Given the description of an element on the screen output the (x, y) to click on. 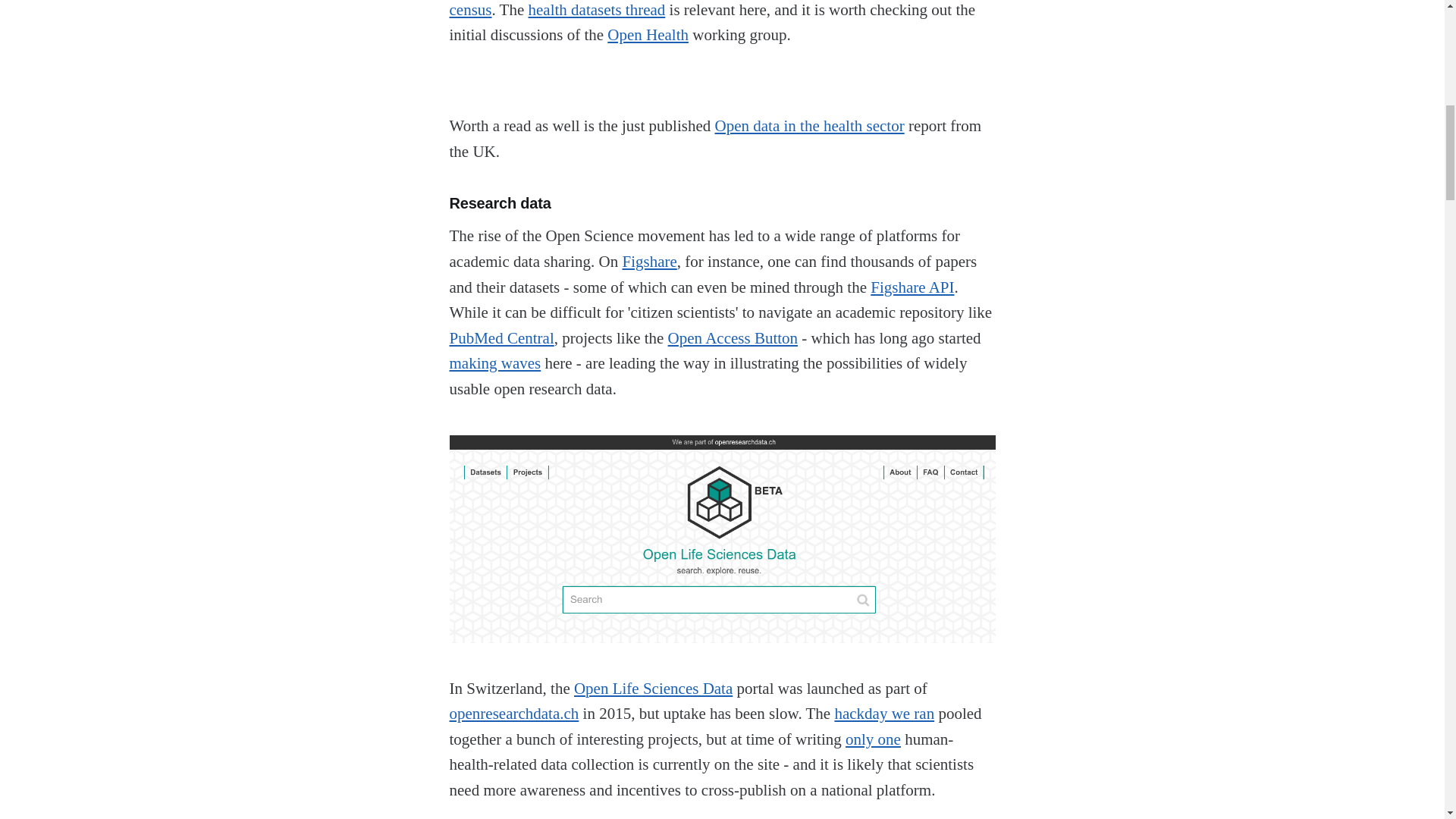
openresearchdata.ch (513, 713)
making waves (494, 362)
hackday we ran (884, 713)
health datasets thread (596, 9)
Open data in the health sector (809, 126)
Open Access Button (732, 338)
Figshare (649, 261)
Open Life Sciences Data (652, 688)
PubMed Central (500, 338)
Australia regional census (719, 9)
only one (873, 739)
Open Health (647, 34)
Figshare API (911, 287)
